Given the description of an element on the screen output the (x, y) to click on. 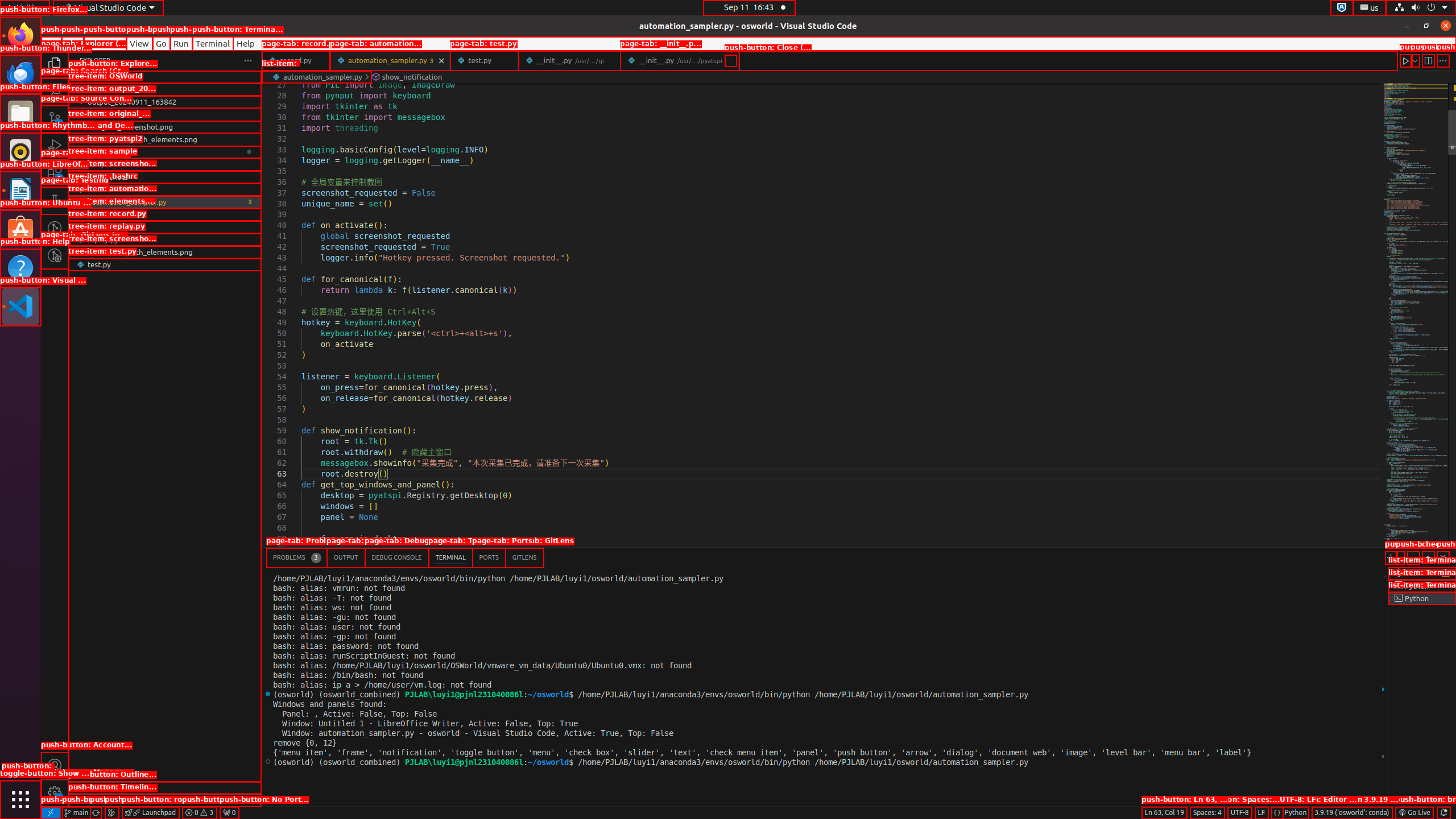
New Terminal (Ctrl+Shift+`) [Alt] Split Terminal (Ctrl+Shift+5) Element type: push-button (1390, 557)
Problems (Ctrl+Shift+M) - Total 3 Problems Element type: page-tab (296, 557)
Debug Console (Ctrl+Shift+Y) Element type: page-tab (396, 557)
Run Python File Element type: push-button (1405, 60)
Split Editor Right (Ctrl+\) [Alt] Split Editor Down Element type: push-button (1427, 60)
